Given the description of an element on the screen output the (x, y) to click on. 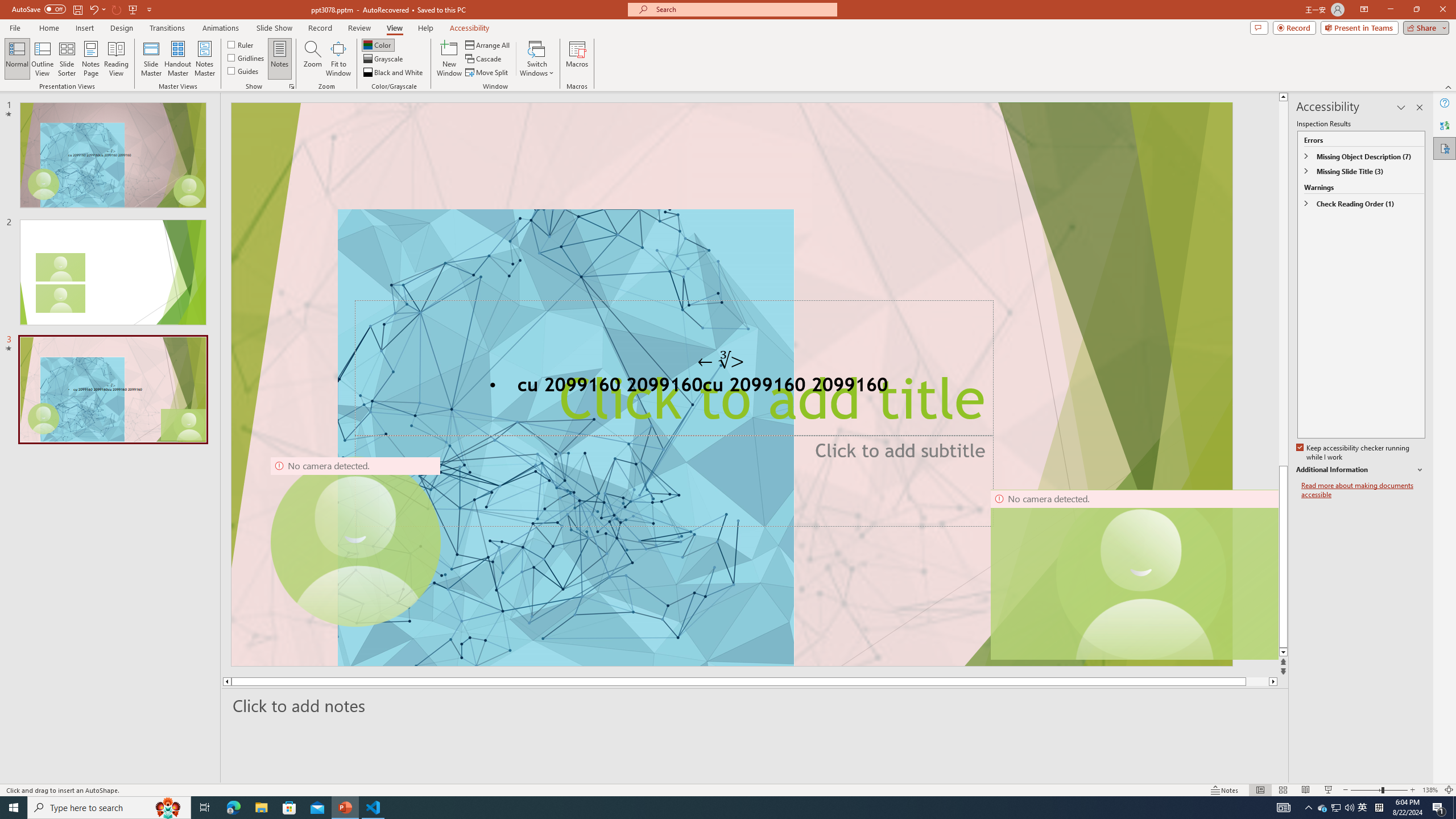
Handout Master (177, 58)
Black and White (393, 72)
Zoom... (312, 58)
Camera 9, No camera detected. (355, 542)
Color (377, 44)
New Window (449, 58)
Zoom 138% (1430, 790)
